Given the description of an element on the screen output the (x, y) to click on. 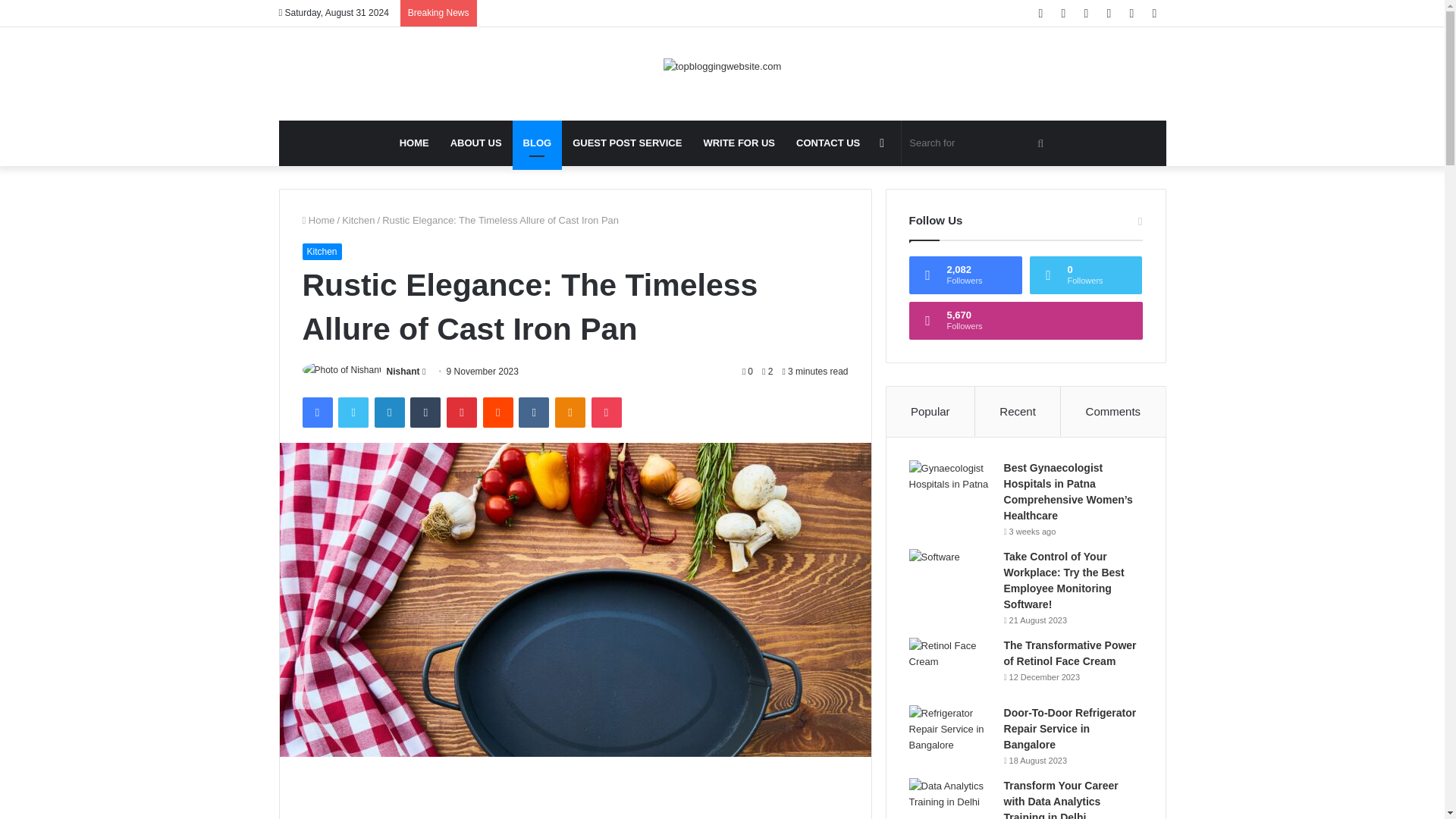
Nishant (403, 371)
Kitchen (358, 220)
Reddit (498, 412)
VKontakte (533, 412)
WRITE FOR US (739, 143)
VKontakte (533, 412)
Tumblr (425, 412)
Kitchen (320, 251)
Pocket (606, 412)
topbloggingwebsite.com (721, 65)
